Given the description of an element on the screen output the (x, y) to click on. 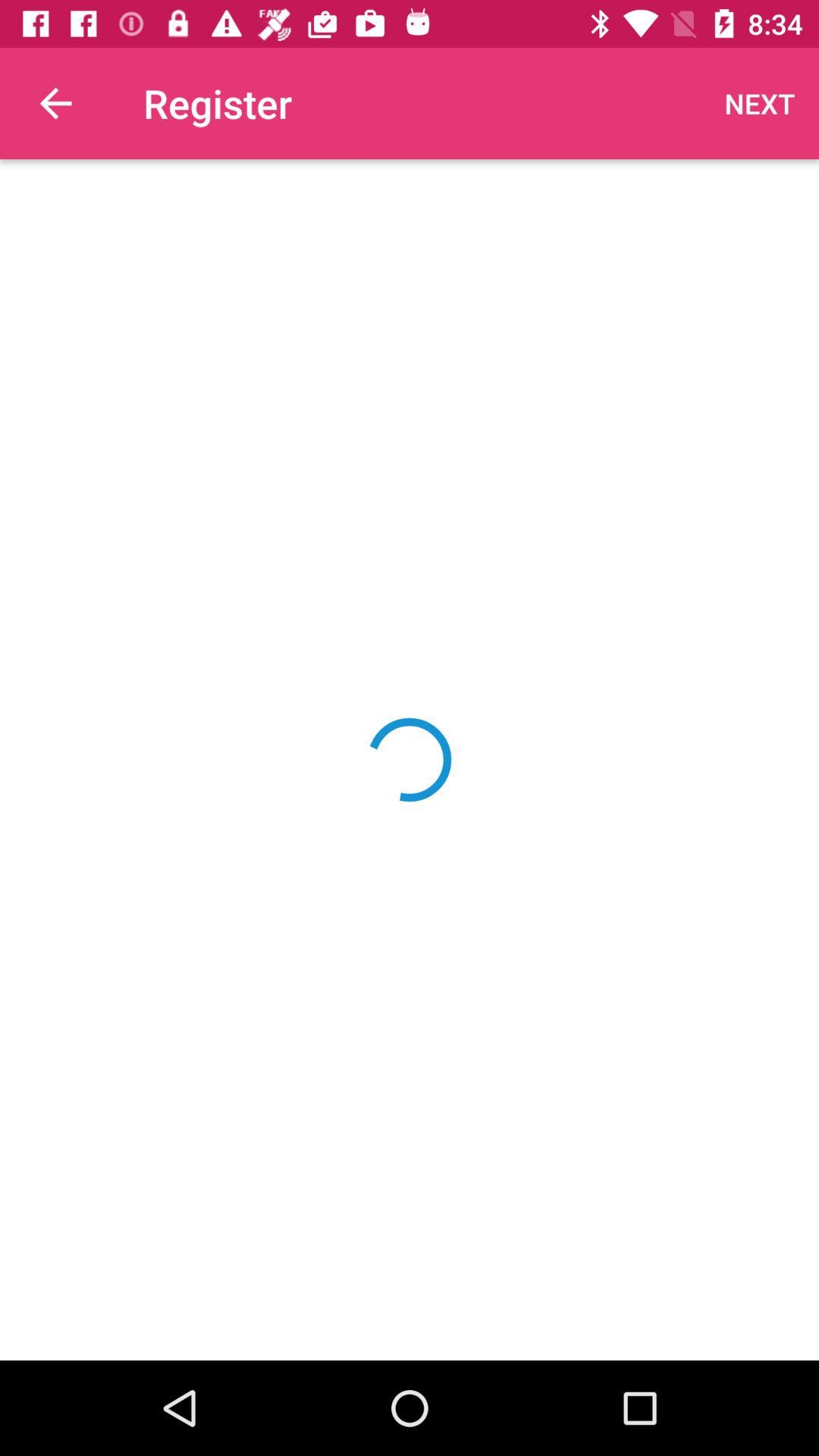
launch the item next to register item (759, 103)
